Given the description of an element on the screen output the (x, y) to click on. 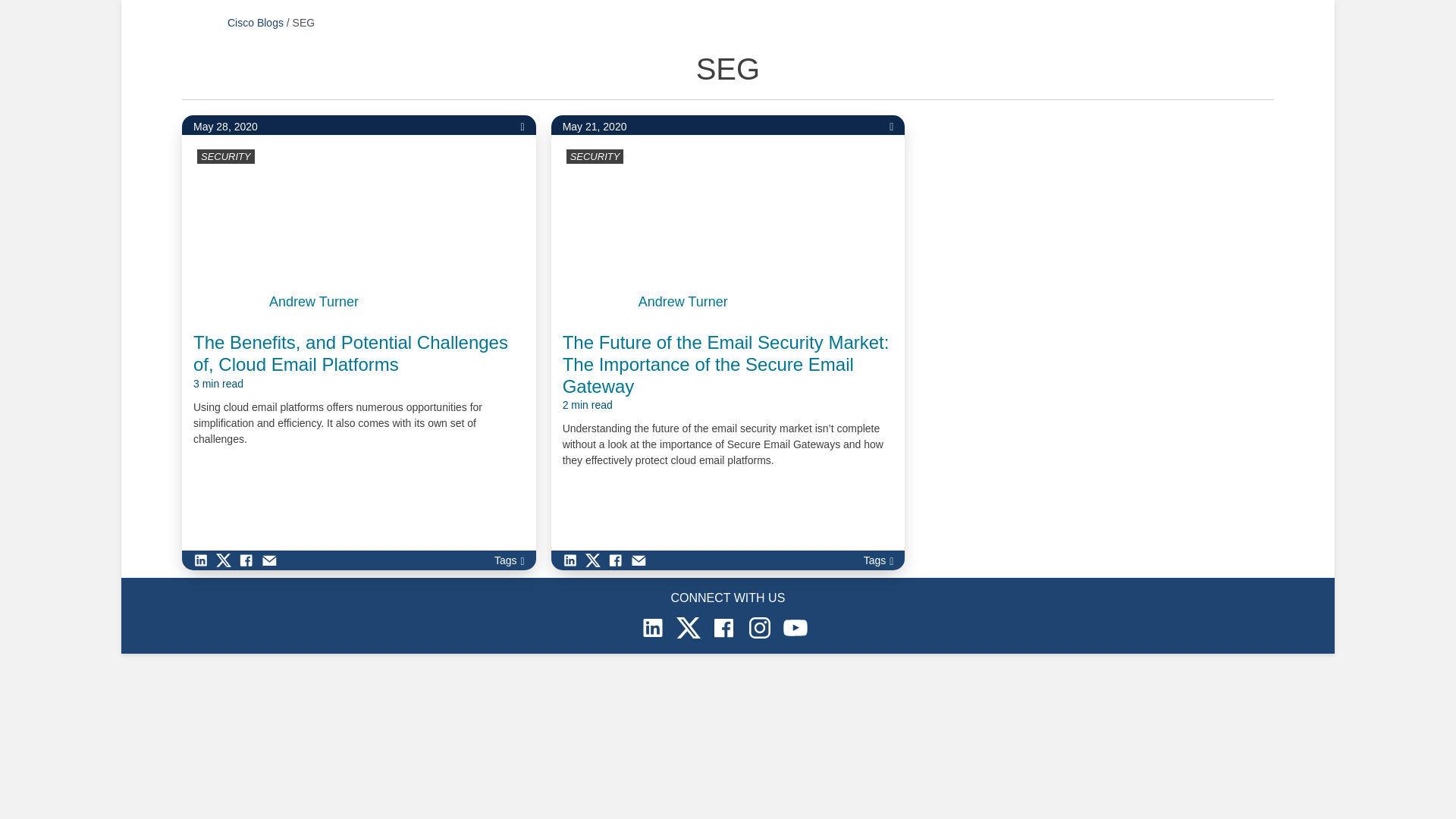
Andrew Turner (683, 302)
Posts by Andrew Turner (313, 302)
SECURITY (225, 156)
Posts by Andrew Turner (683, 302)
Andrew Turner (313, 302)
Cisco Blogs (255, 22)
SECURITY (595, 156)
